Given the description of an element on the screen output the (x, y) to click on. 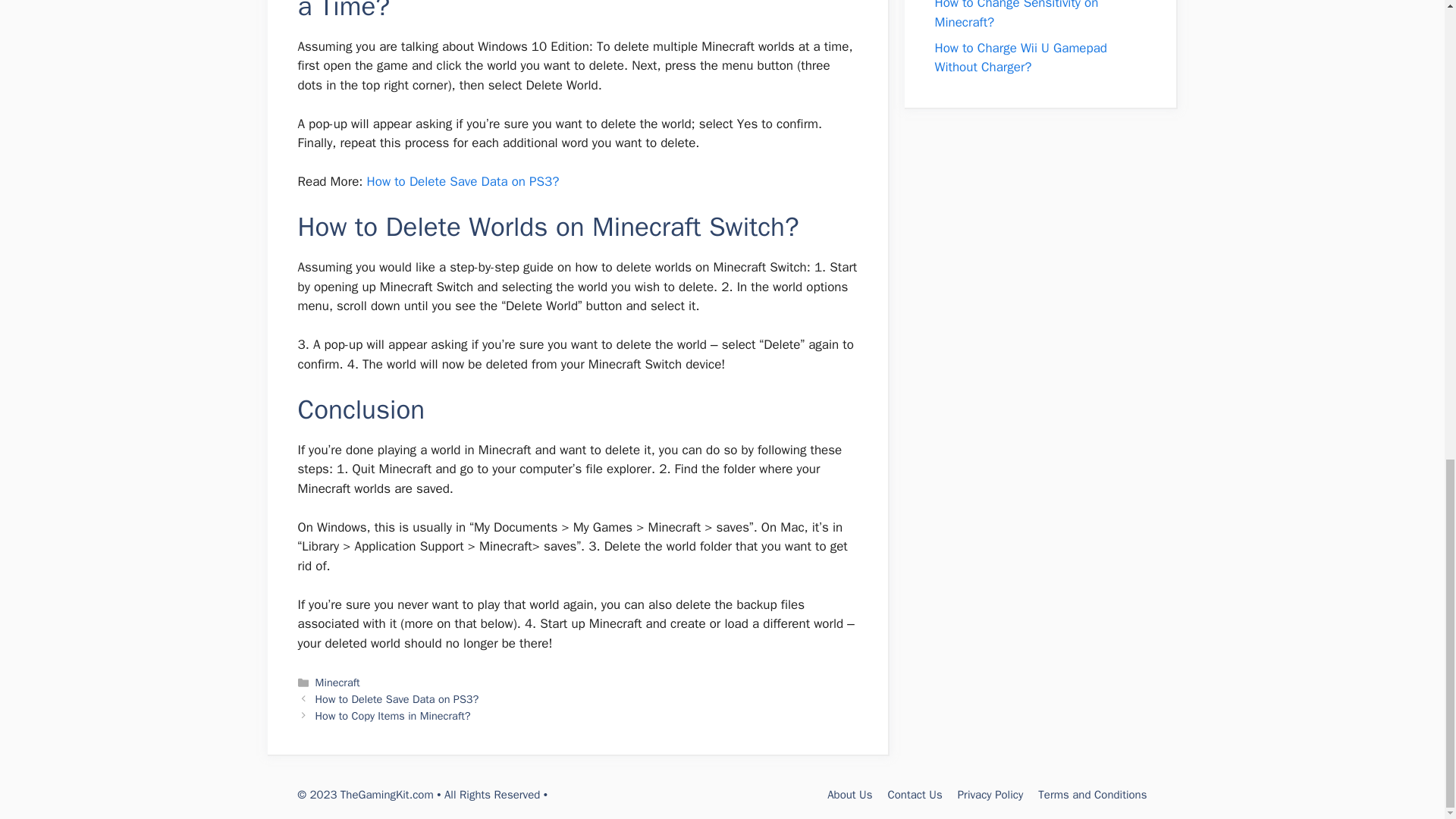
Scroll back to top (1406, 485)
How to Copy Items in Minecraft? (392, 715)
How to Delete Save Data on PS3? (462, 181)
How to Change Sensitivity on Minecraft? (1015, 15)
Terms and Conditions (1092, 794)
Contact Us (914, 794)
How to Delete Save Data on PS3? (397, 698)
Minecraft (337, 682)
About Us (849, 794)
Privacy Policy (990, 794)
How to Charge Wii U Gamepad Without Charger? (1020, 58)
